Given the description of an element on the screen output the (x, y) to click on. 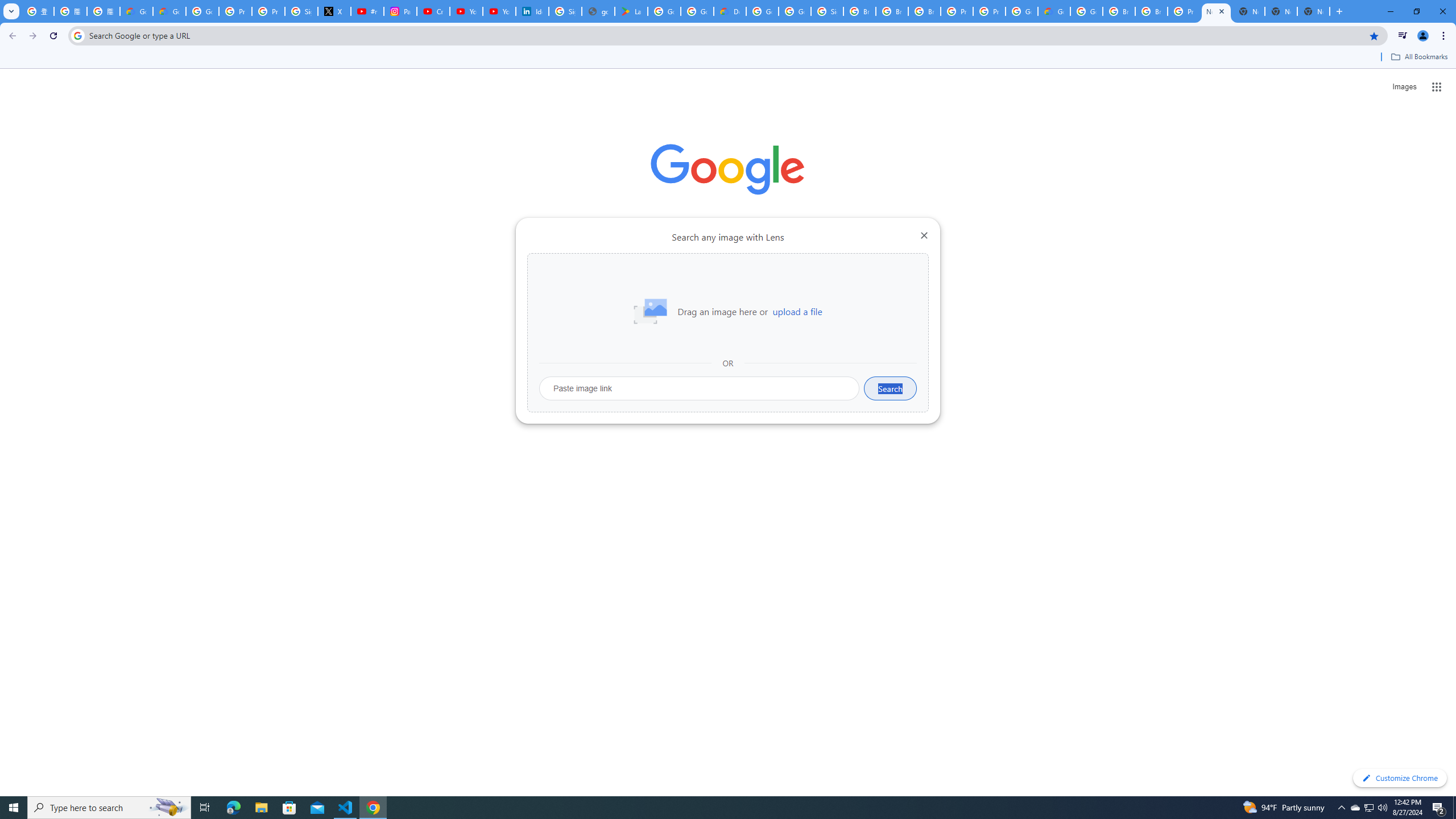
Browse Chrome as a guest - Computer - Google Chrome Help (891, 11)
upload a file (796, 311)
Browse Chrome as a guest - Computer - Google Chrome Help (1118, 11)
Google Cloud Platform (1086, 11)
#nbabasketballhighlights - YouTube (367, 11)
Browse Chrome as a guest - Computer - Google Chrome Help (859, 11)
Google Cloud Estimate Summary (1053, 11)
All Bookmarks (1418, 56)
Sign in - Google Accounts (564, 11)
Identity verification via Persona | LinkedIn Help (532, 11)
Browse Chrome as a guest - Computer - Google Chrome Help (924, 11)
Bookmarks (728, 58)
